Given the description of an element on the screen output the (x, y) to click on. 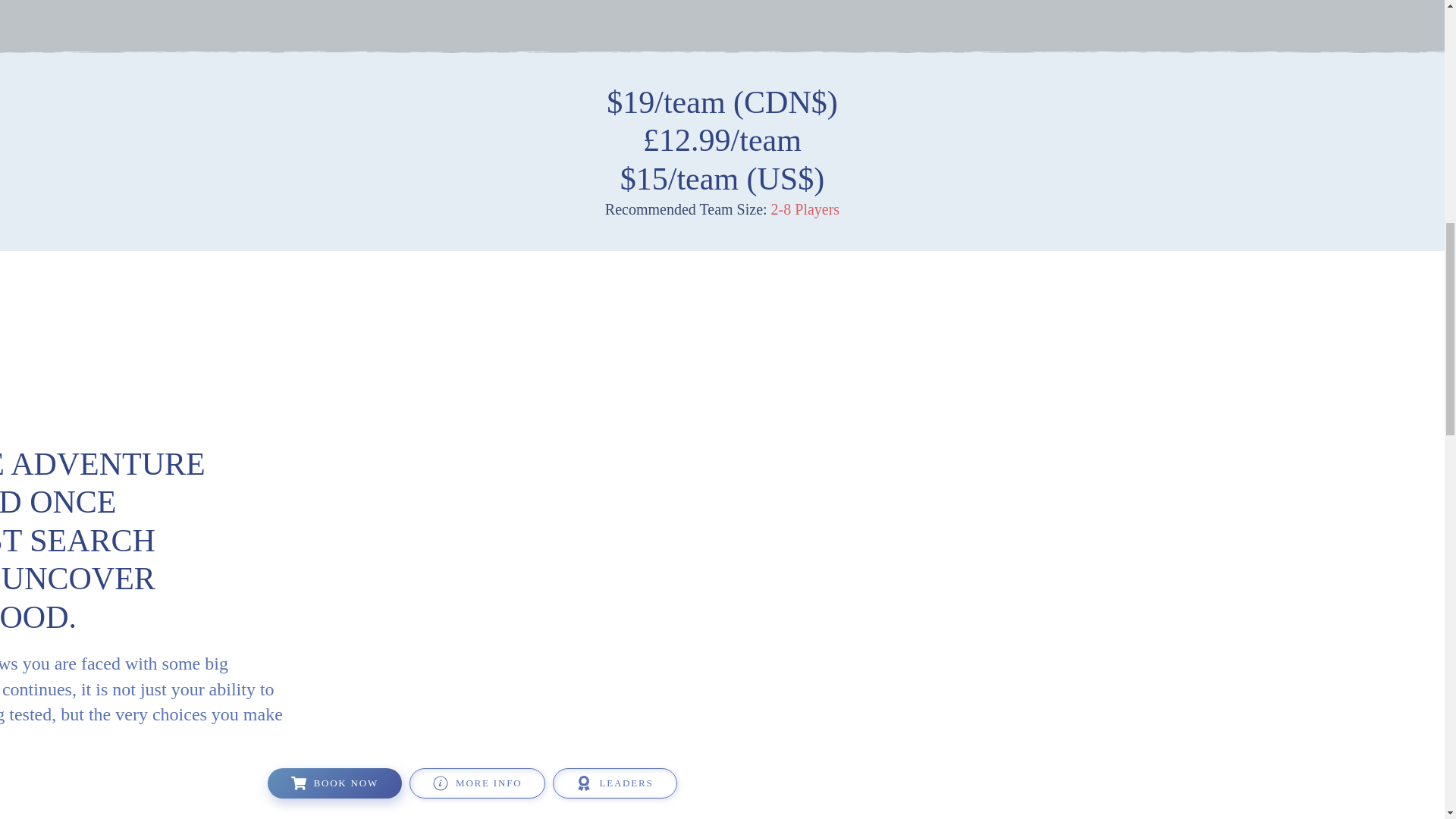
LEADERS (615, 783)
BOOK NOW (333, 783)
MORE INFO (476, 783)
